Given the description of an element on the screen output the (x, y) to click on. 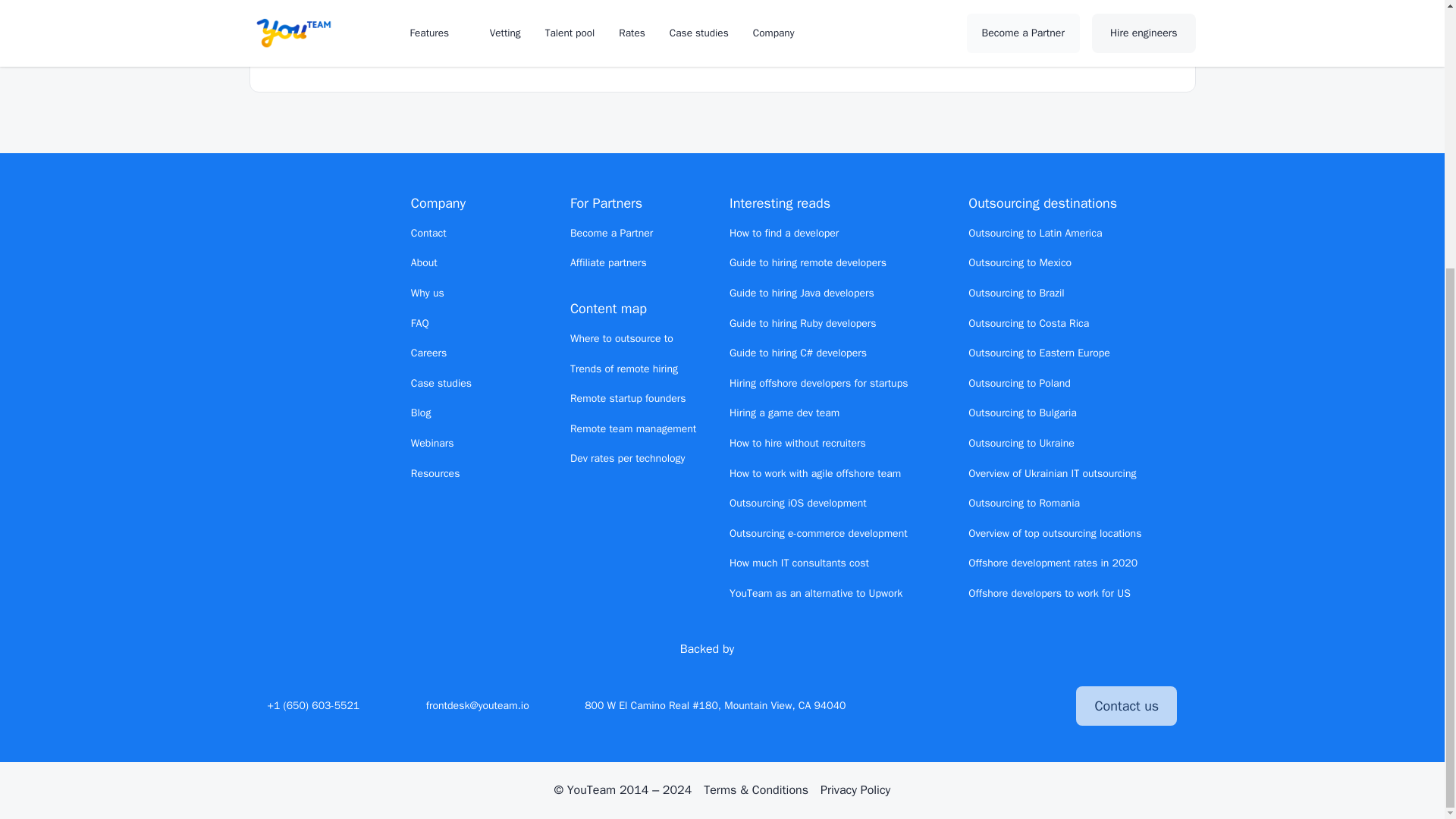
Remote startup founders (627, 398)
Webinars (432, 442)
Guide to hiring Ruby developers (802, 323)
Why us (427, 292)
Affiliate partners (608, 262)
Dev rates per technology (627, 458)
Blog (420, 412)
About (424, 262)
Guide to hiring remote developers (807, 262)
Facebook (991, 705)
How to find a developer (783, 232)
Privacy Policy (855, 790)
Trends of remote hiring (624, 368)
FAQ (419, 323)
Twitter (937, 705)
